Given the description of an element on the screen output the (x, y) to click on. 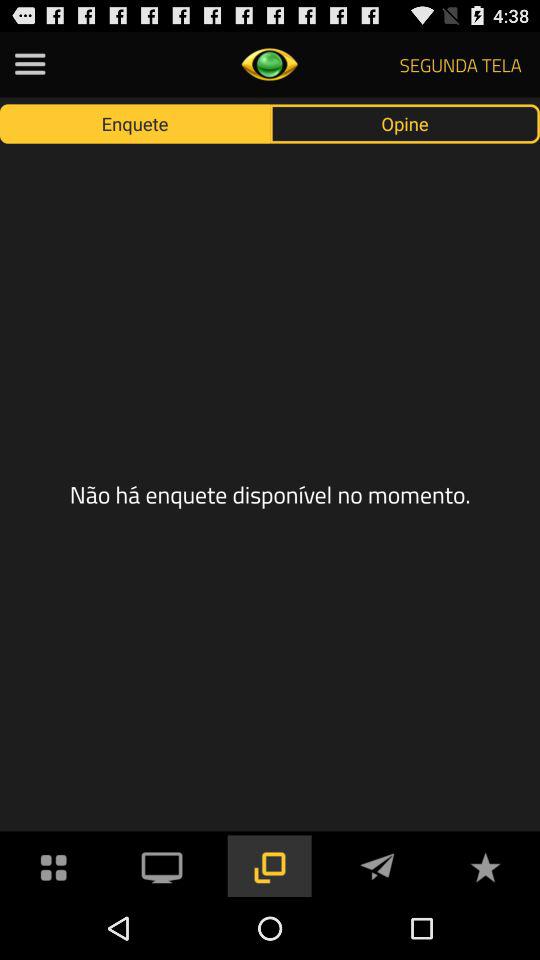
send message/comment (377, 865)
